Given the description of an element on the screen output the (x, y) to click on. 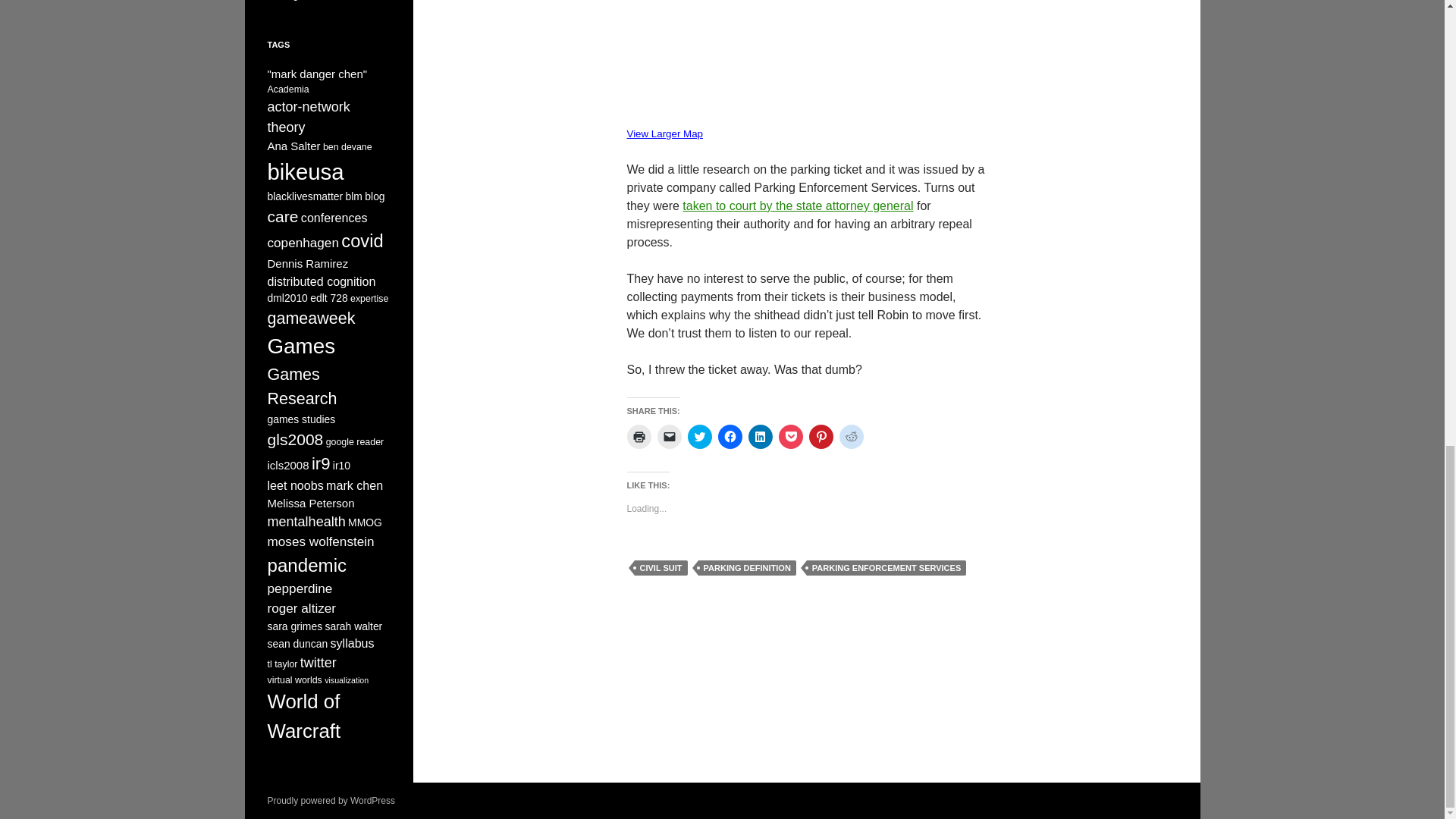
Click to share on Reddit (850, 436)
Click to print (638, 436)
View Larger Map (664, 133)
PARKING ENFORCEMENT SERVICES (886, 567)
PARKING DEFINITION (747, 567)
taken to court by the state attorney general (797, 205)
Click to share on Twitter (699, 436)
Click to share on Pocket (789, 436)
Click to email a link to a friend (668, 436)
CIVIL SUIT (660, 567)
